Given the description of an element on the screen output the (x, y) to click on. 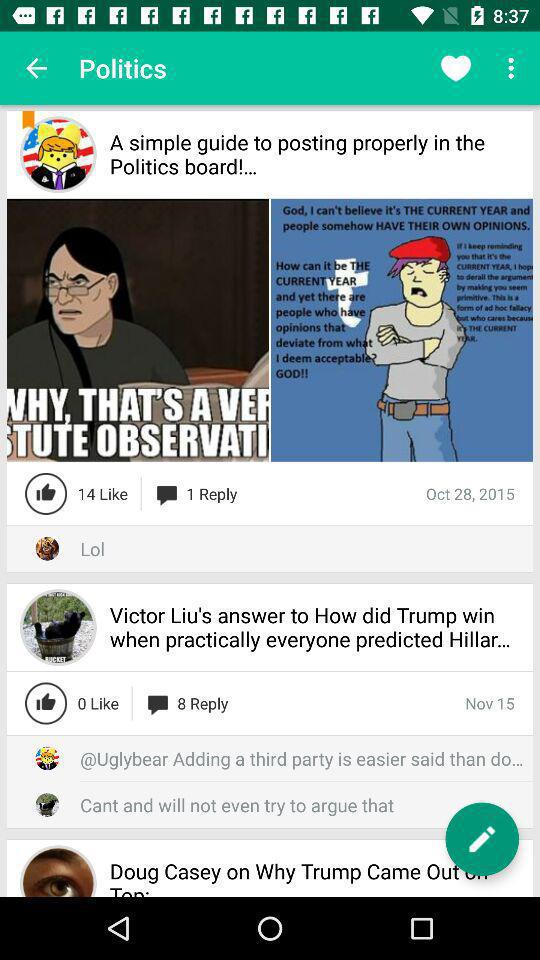
click on three vertical dots which is at top right corner of the page (514, 68)
click on the image above oct 28 2015 (401, 329)
click on like icon left to 14 like (45, 493)
click on edit button which is at bottom right corner of the page (482, 839)
